Given the description of an element on the screen output the (x, y) to click on. 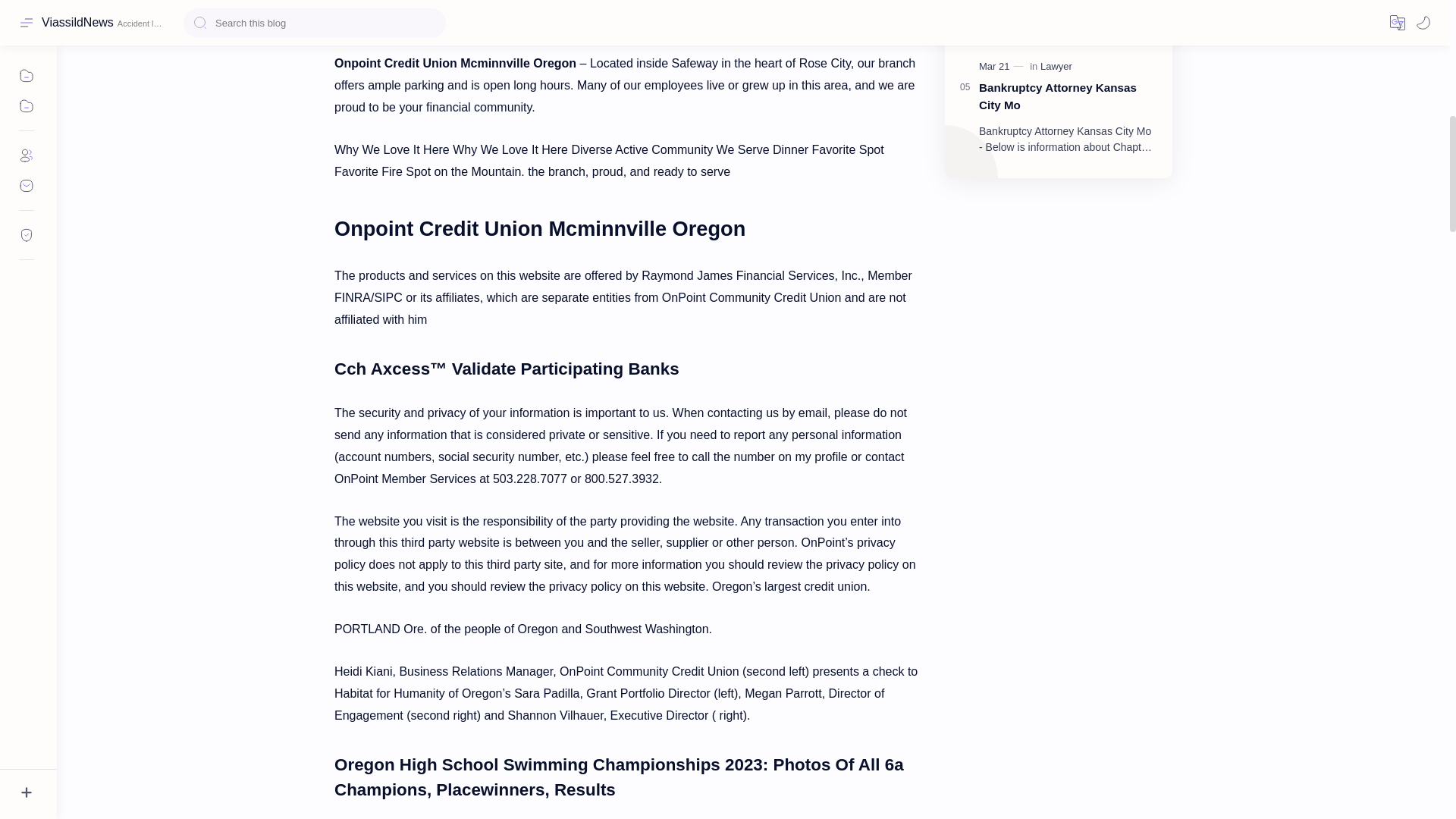
Published: Maret 21, 2024 (1002, 66)
